Given the description of an element on the screen output the (x, y) to click on. 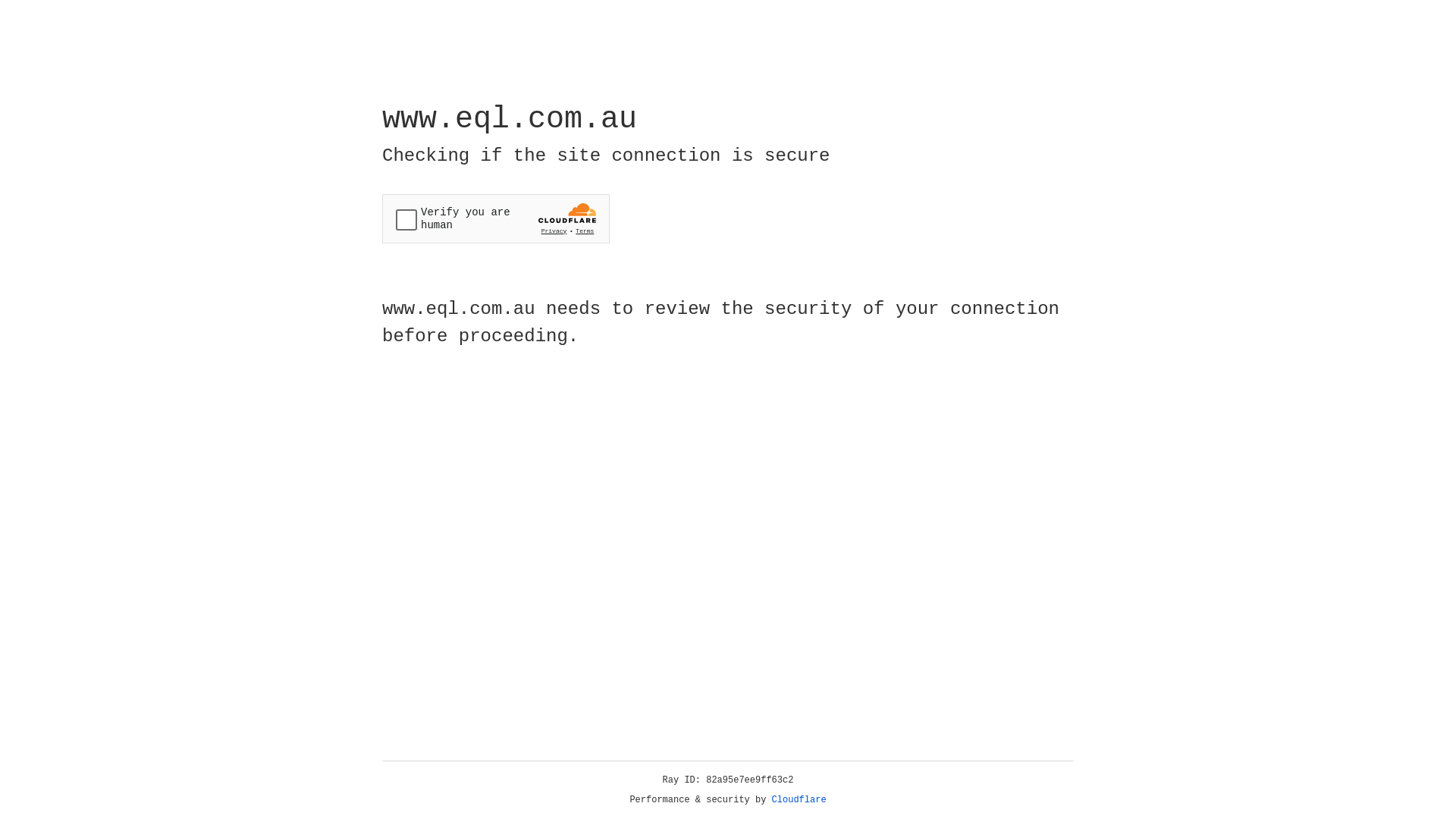
Cloudflare Element type: text (798, 799)
Widget containing a Cloudflare security challenge Element type: hover (495, 218)
